Given the description of an element on the screen output the (x, y) to click on. 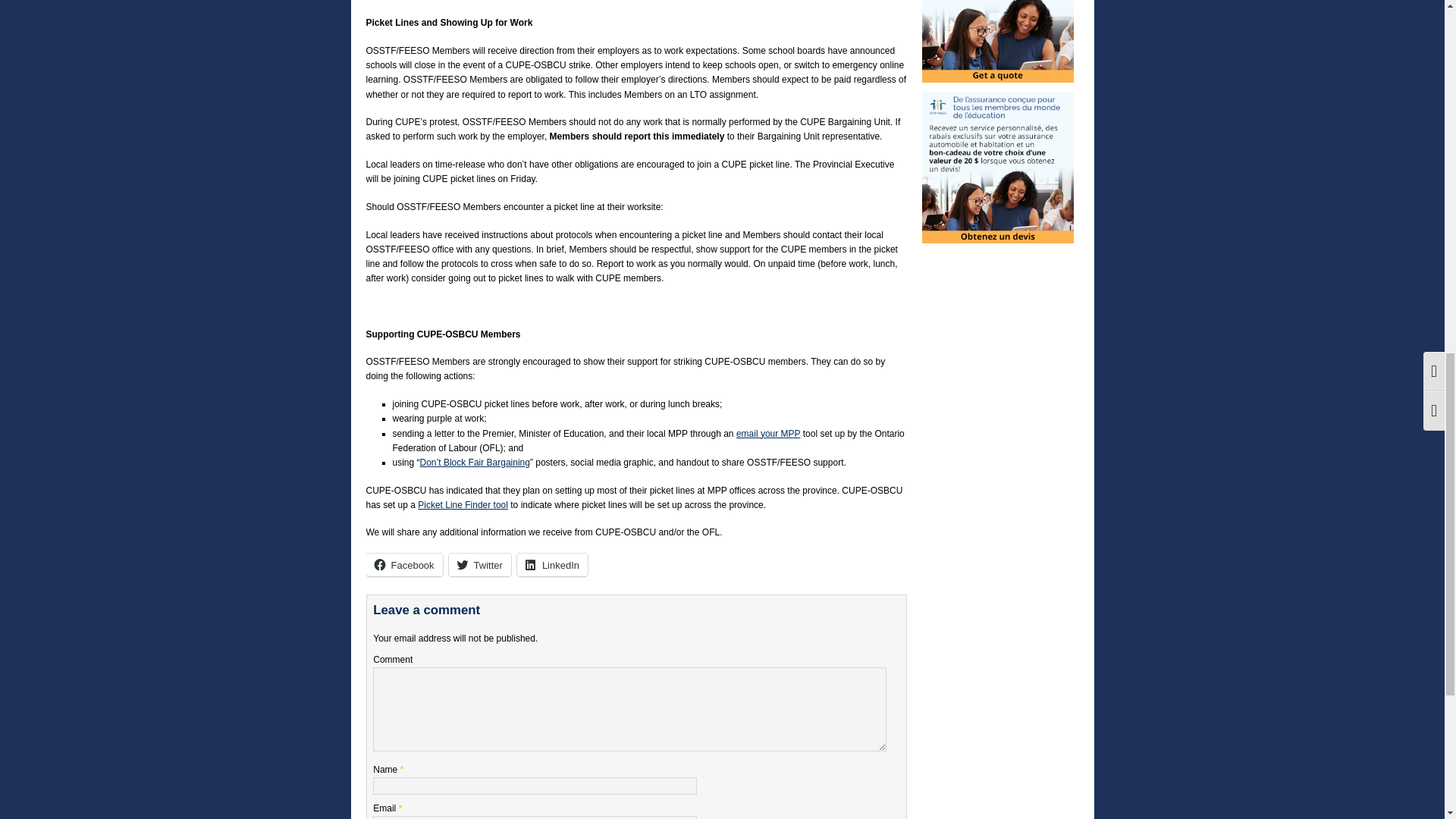
Facebook (403, 564)
email your MPP (767, 432)
Picket Line Finder tool (462, 504)
LinkedIn (552, 564)
Twitter (479, 564)
